Given the description of an element on the screen output the (x, y) to click on. 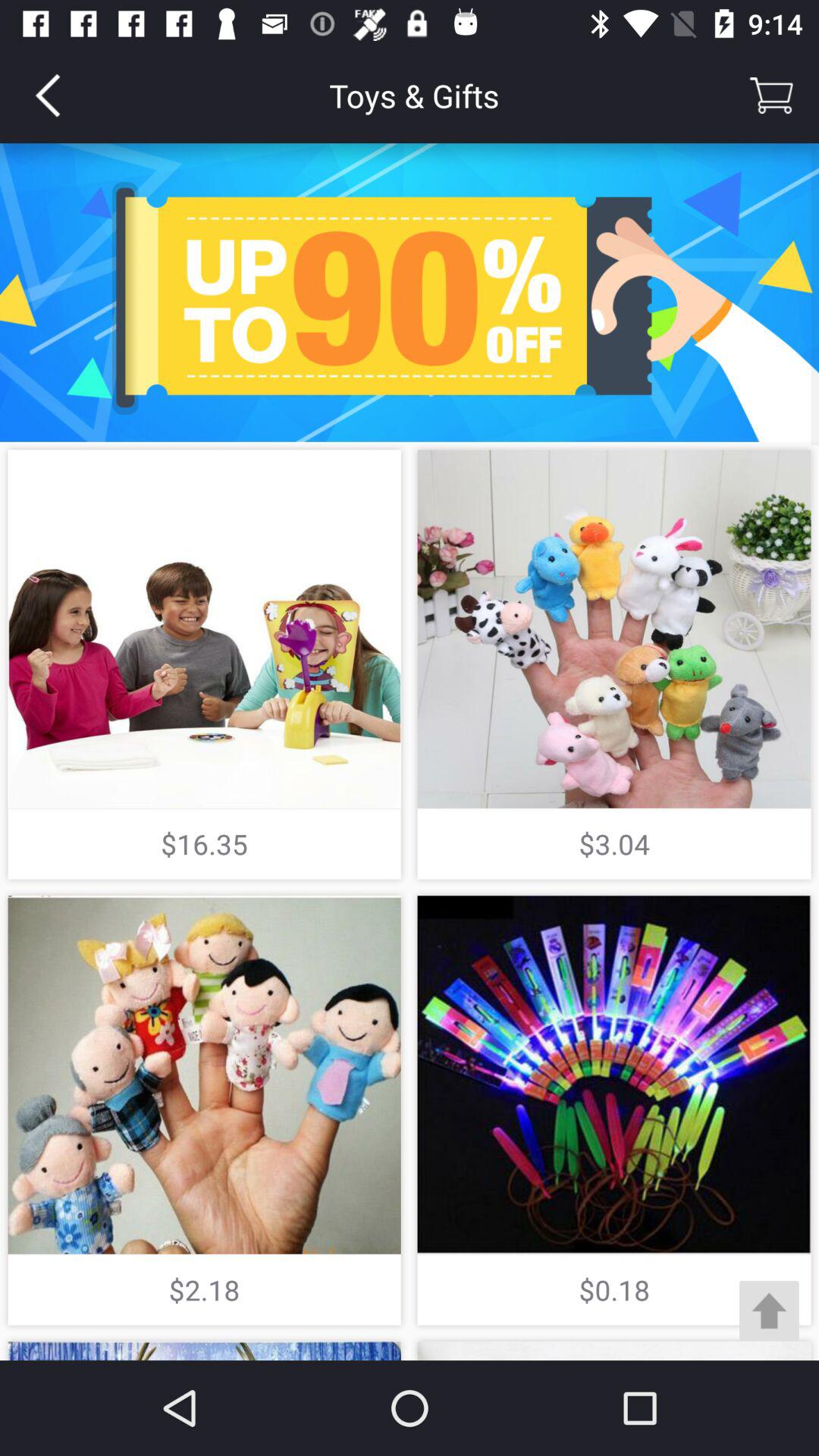
open the item at the top left corner (47, 95)
